Given the description of an element on the screen output the (x, y) to click on. 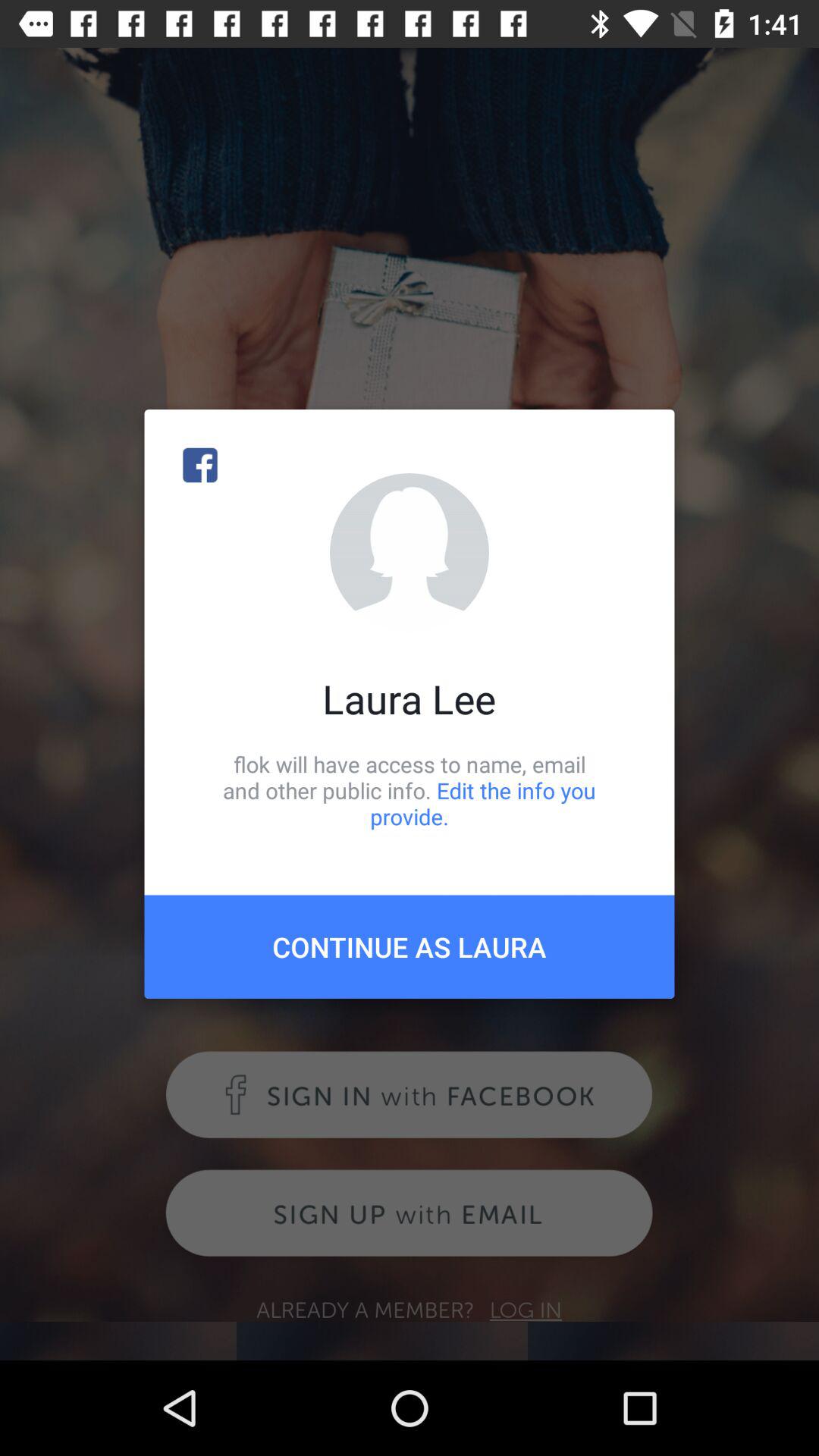
turn off icon below laura lee (409, 790)
